Given the description of an element on the screen output the (x, y) to click on. 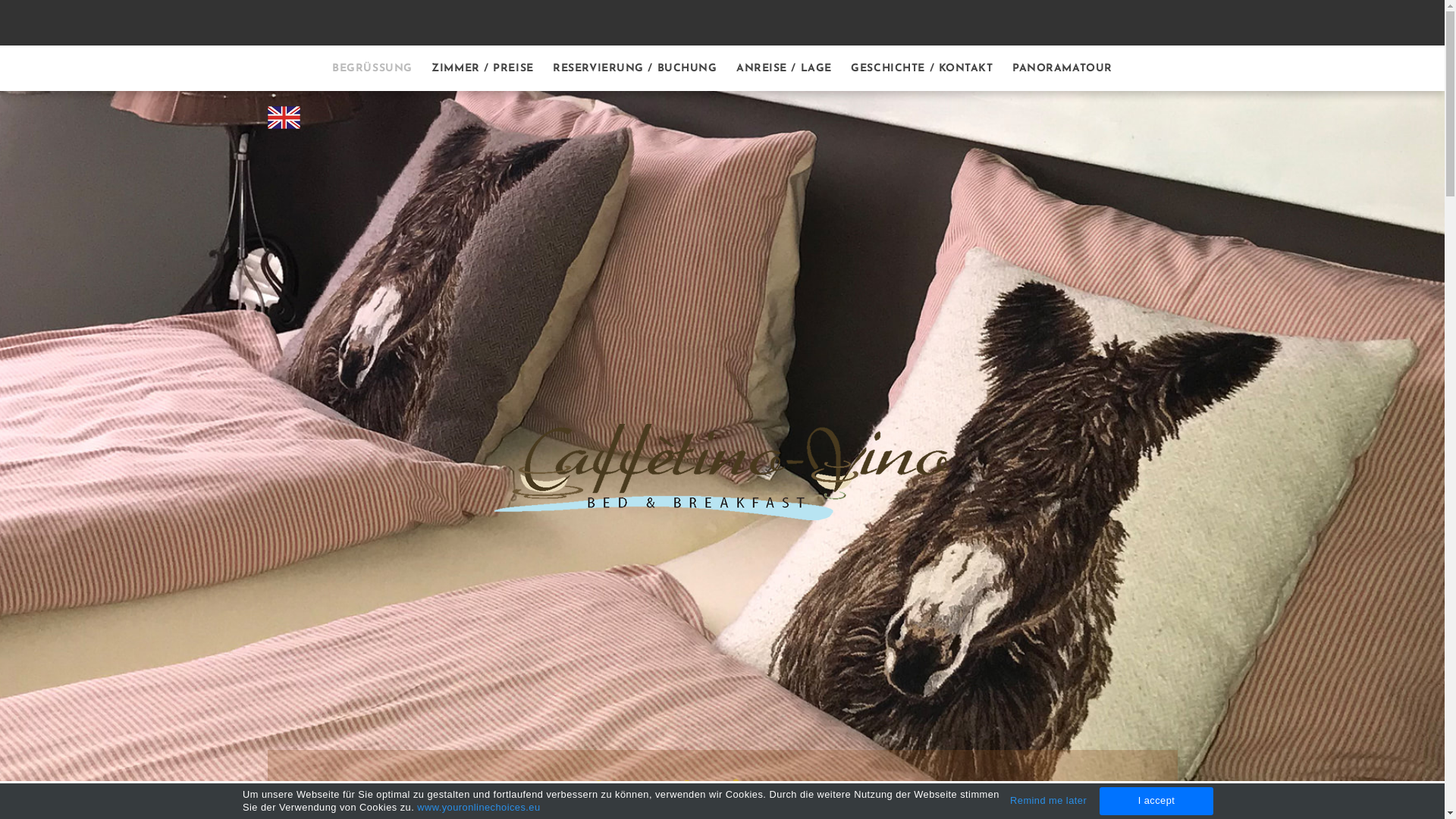
I accept Element type: text (1156, 801)
PANORAMATOUR Element type: text (1062, 68)
Remind me later Element type: text (1048, 800)
GESCHICHTE / KONTAKT Element type: text (921, 68)
www.youronlinechoices.eu Element type: text (478, 806)
ANREISE / LAGE Element type: text (783, 68)
RESERVIERUNG / BUCHUNG Element type: text (634, 68)
ZIMMER / PREISE Element type: text (482, 68)
